Given the description of an element on the screen output the (x, y) to click on. 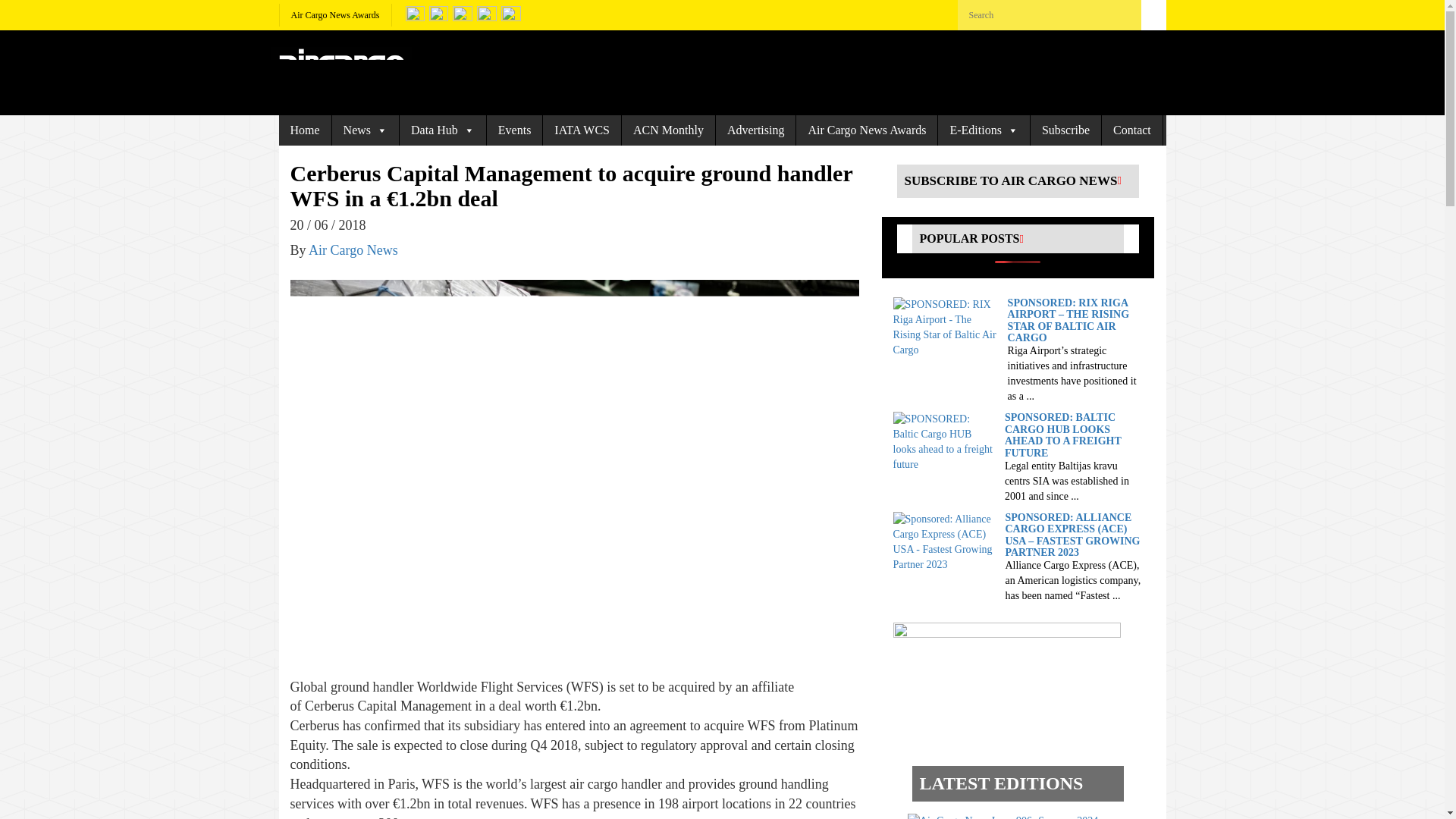
Air Cargo News Issue 906 -Summer 2024 (1002, 816)
Air Cargo News Awards (335, 14)
Home (305, 130)
News (364, 130)
SPONSORED: Baltic Cargo HUB looks ahead to a freight future (945, 441)
